Given the description of an element on the screen output the (x, y) to click on. 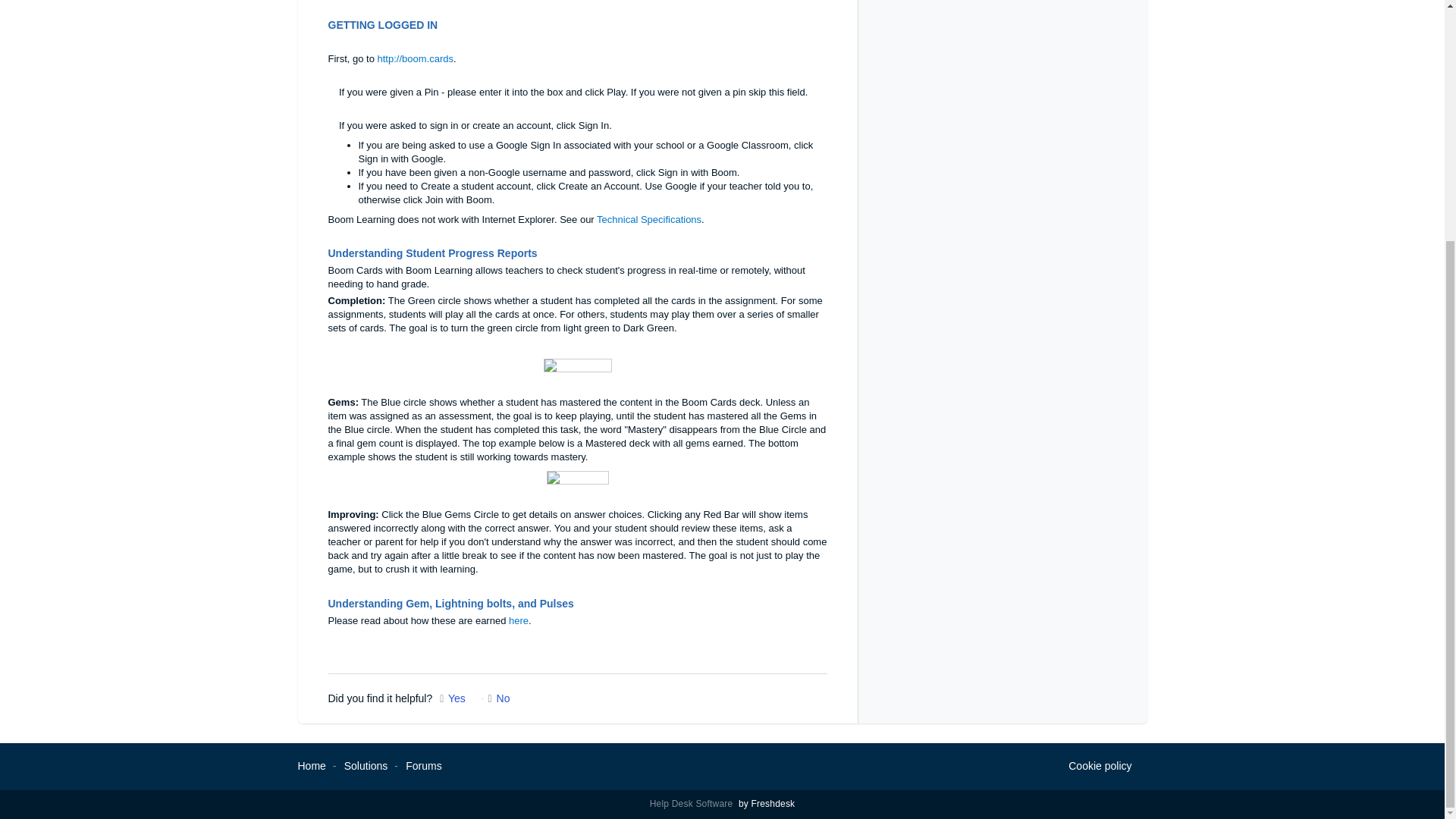
Cookie policy (1099, 766)
here (518, 620)
Why we love Cookies (1099, 766)
Solutions (365, 766)
Help Desk Software (693, 803)
Forums (423, 766)
Technical Specifications (648, 219)
Home (310, 766)
